Given the description of an element on the screen output the (x, y) to click on. 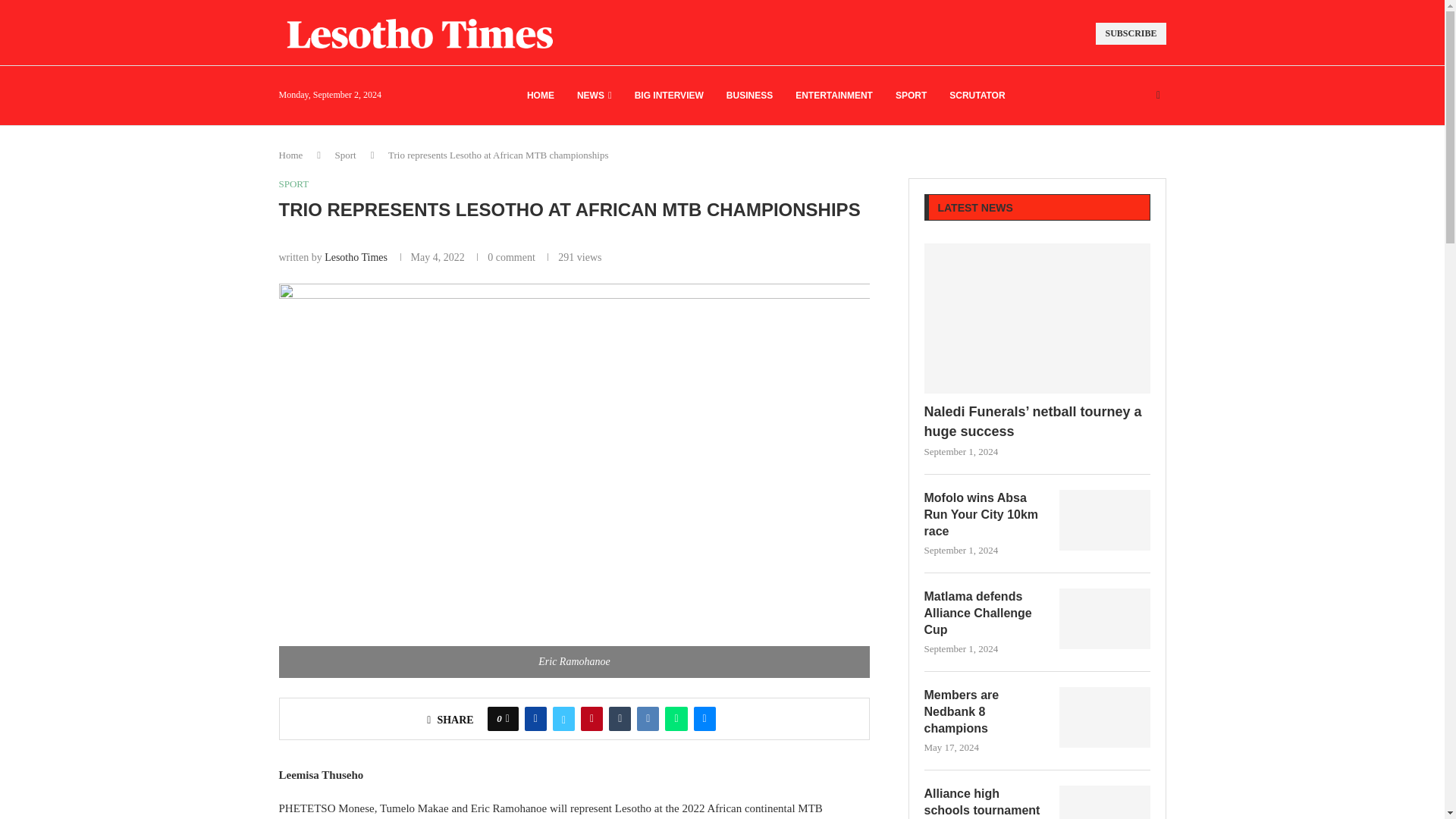
ENTERTAINMENT (833, 95)
SCRUTATOR (976, 95)
BUSINESS (749, 95)
BIG INTERVIEW (668, 95)
SUBSCRIBE (1131, 33)
